Given the description of an element on the screen output the (x, y) to click on. 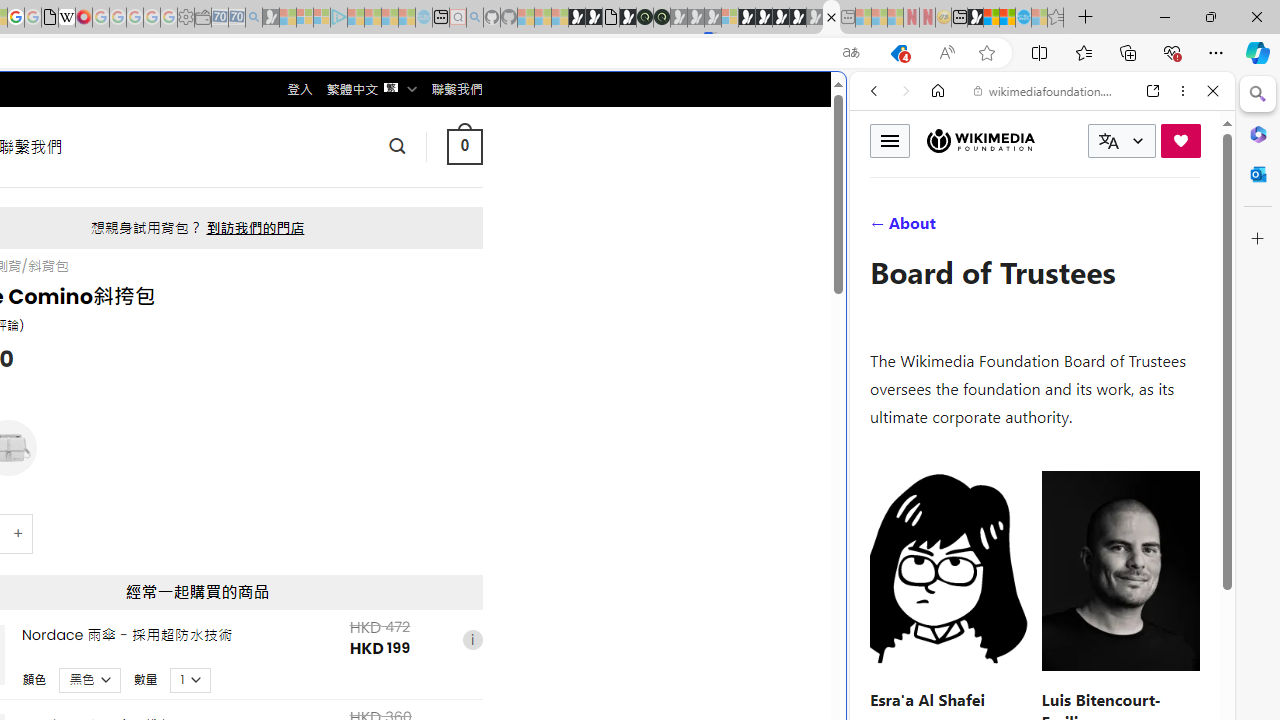
  0   (464, 146)
